Given the description of an element on the screen output the (x, y) to click on. 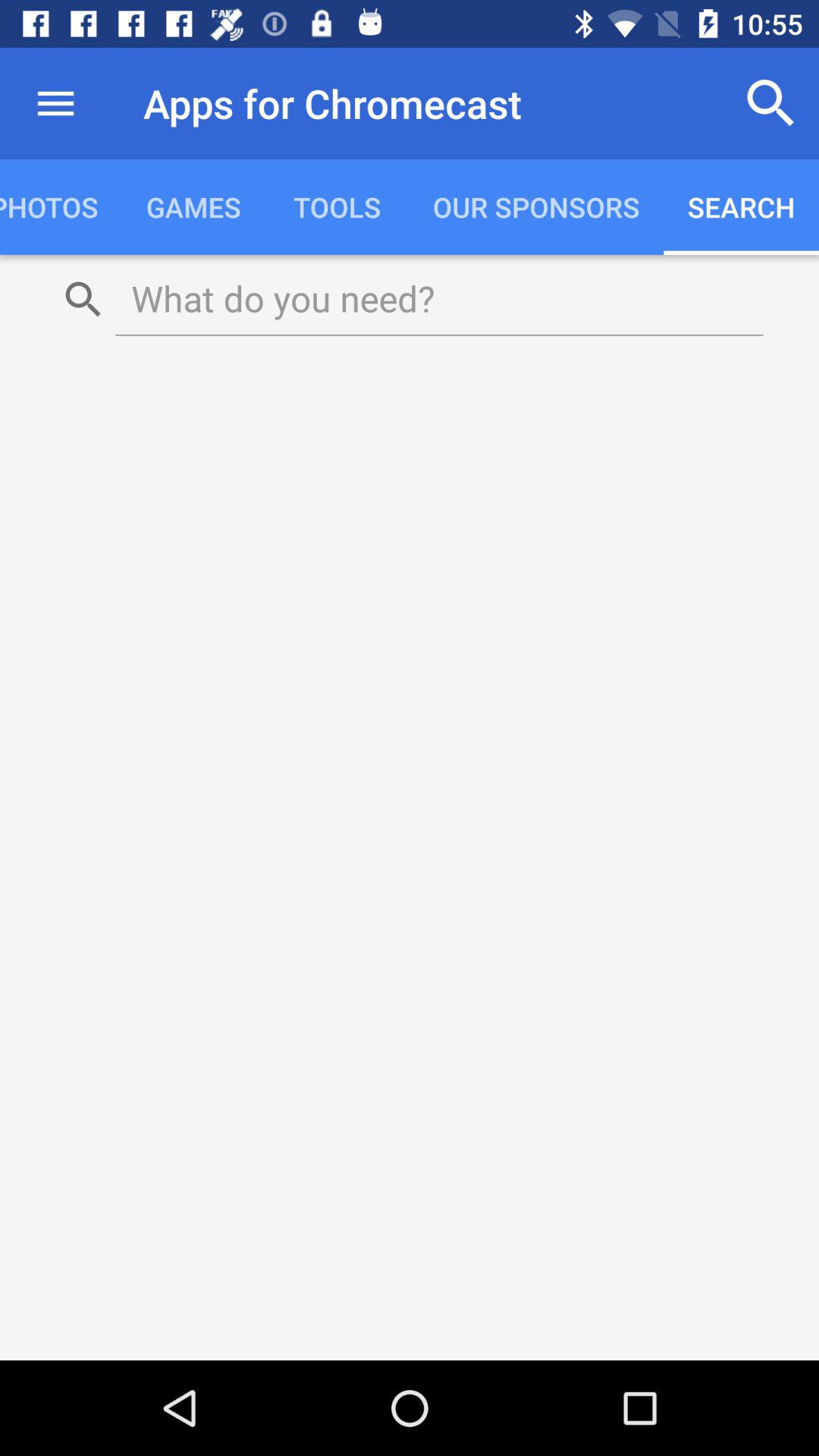
launch the icon next to the apps for chromecast (55, 103)
